Given the description of an element on the screen output the (x, y) to click on. 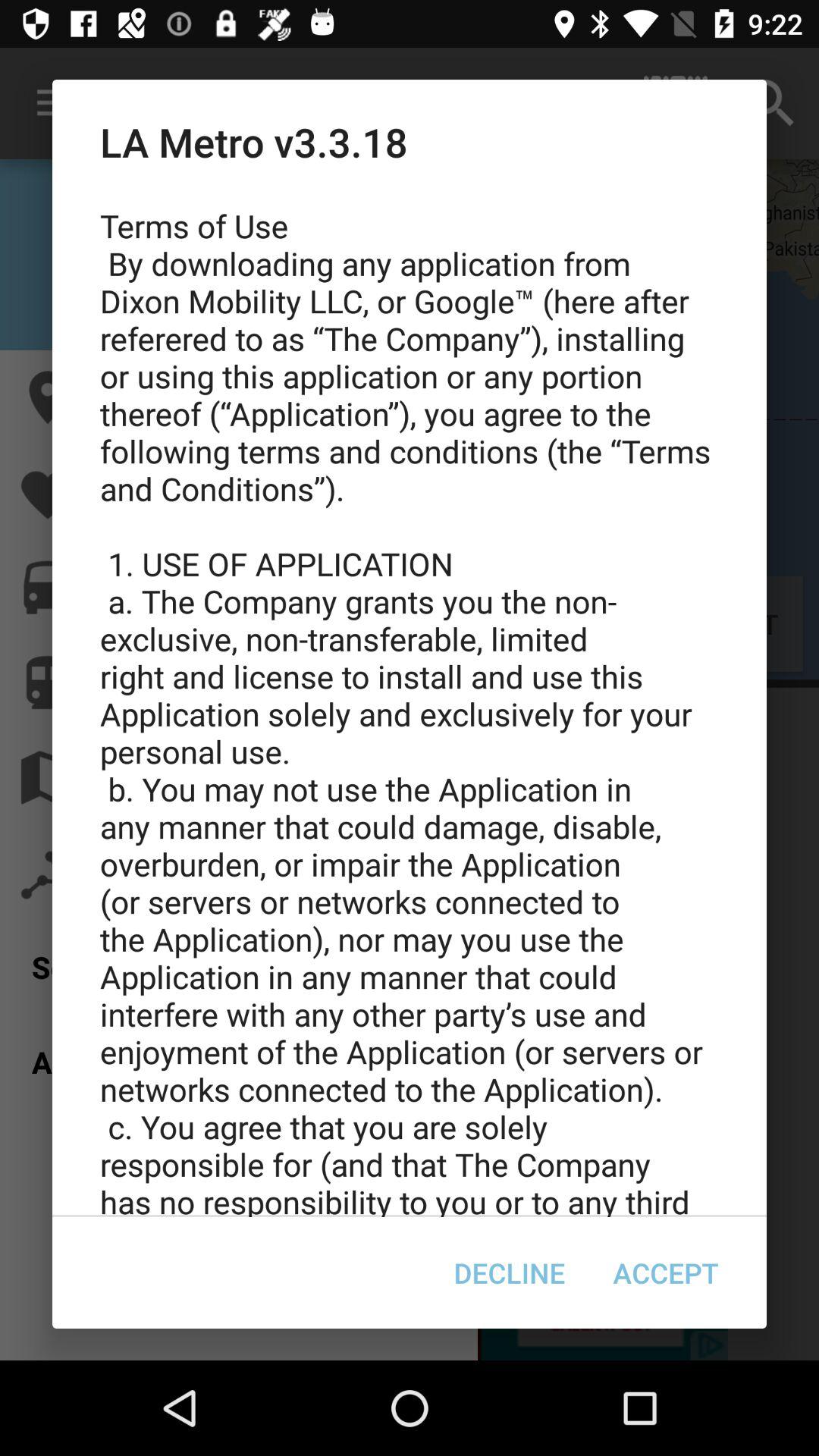
launch item below terms of use item (665, 1272)
